Given the description of an element on the screen output the (x, y) to click on. 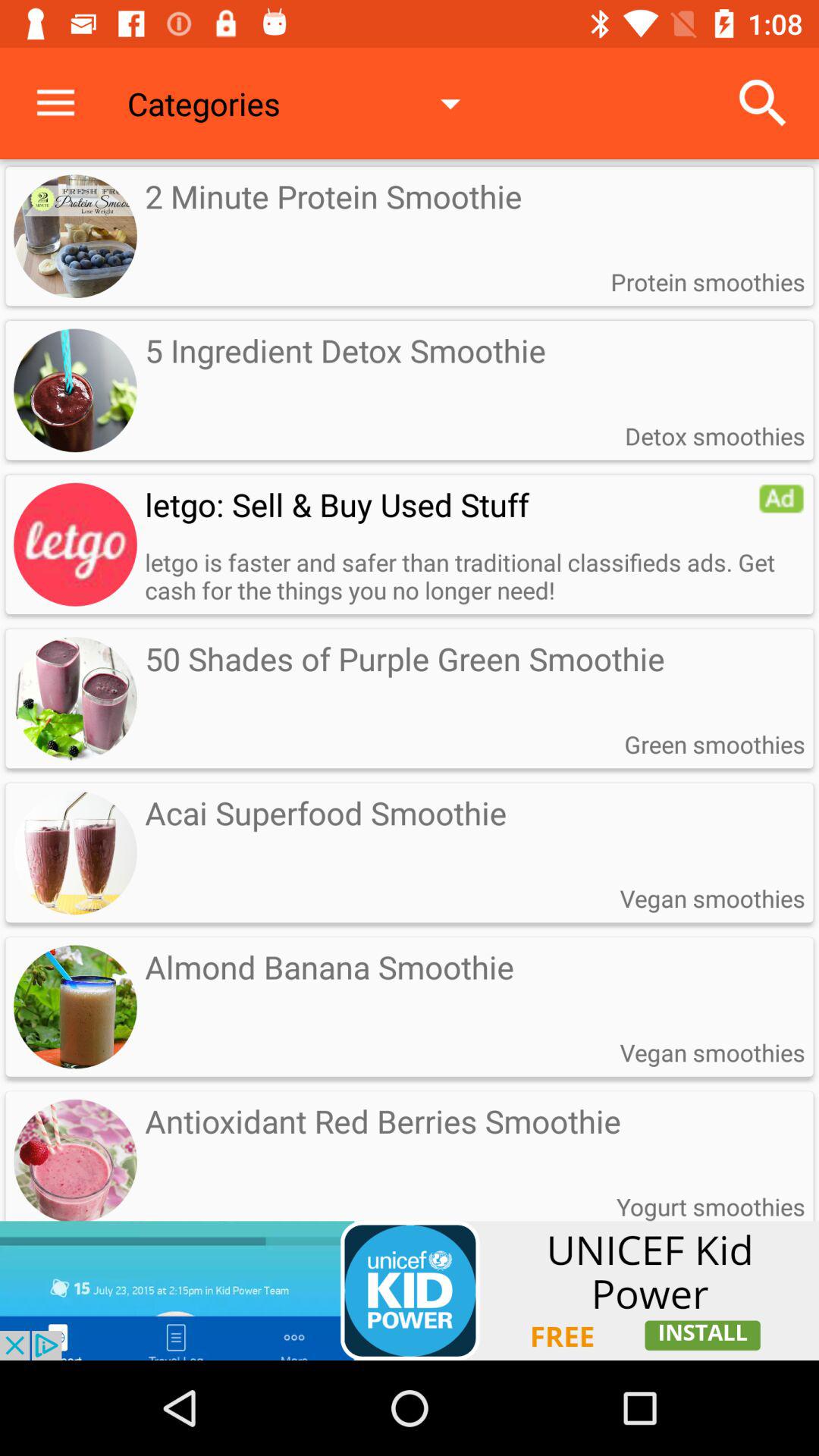
advertisement (409, 1290)
